Given the description of an element on the screen output the (x, y) to click on. 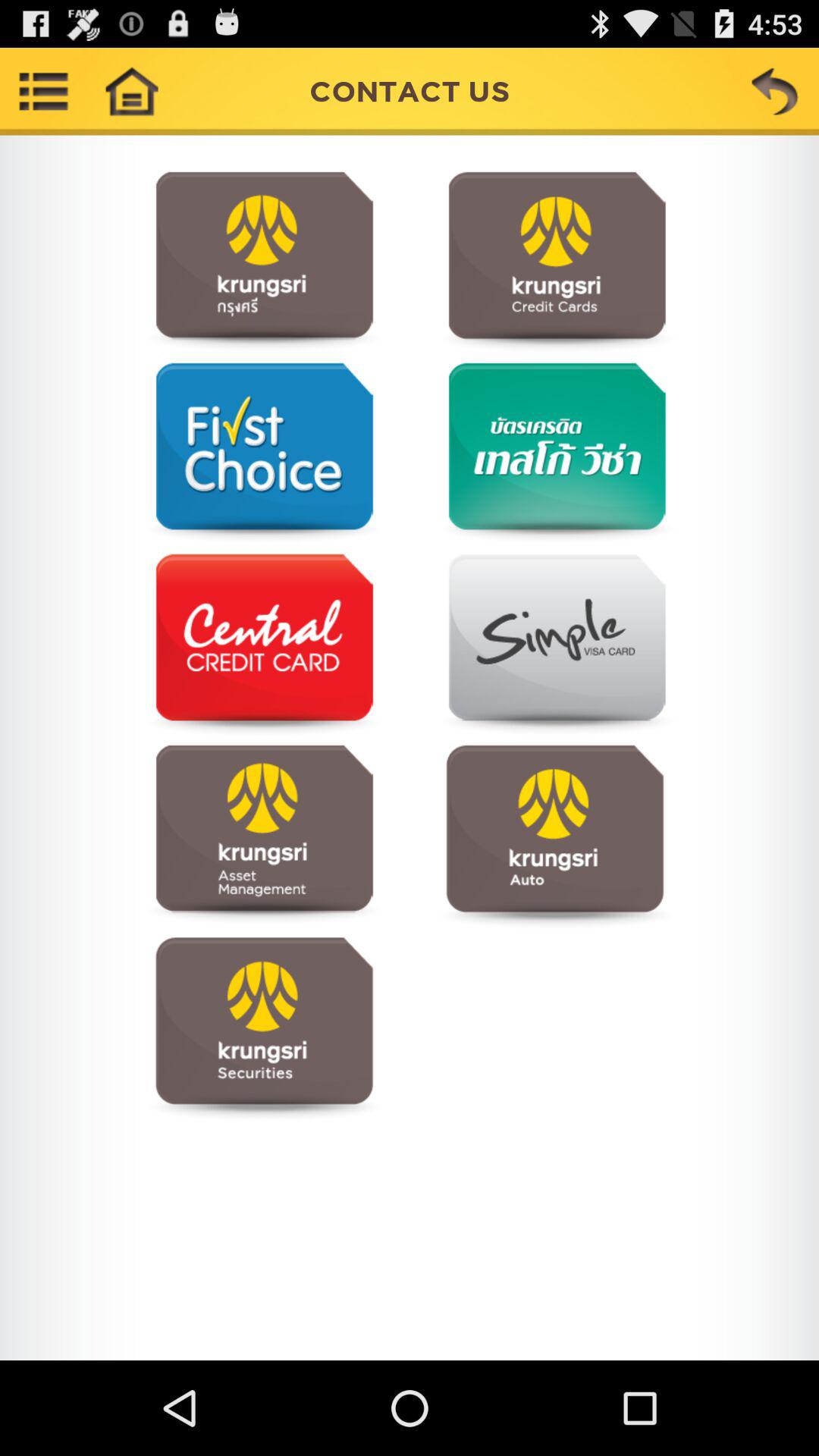
category (554, 453)
